Given the description of an element on the screen output the (x, y) to click on. 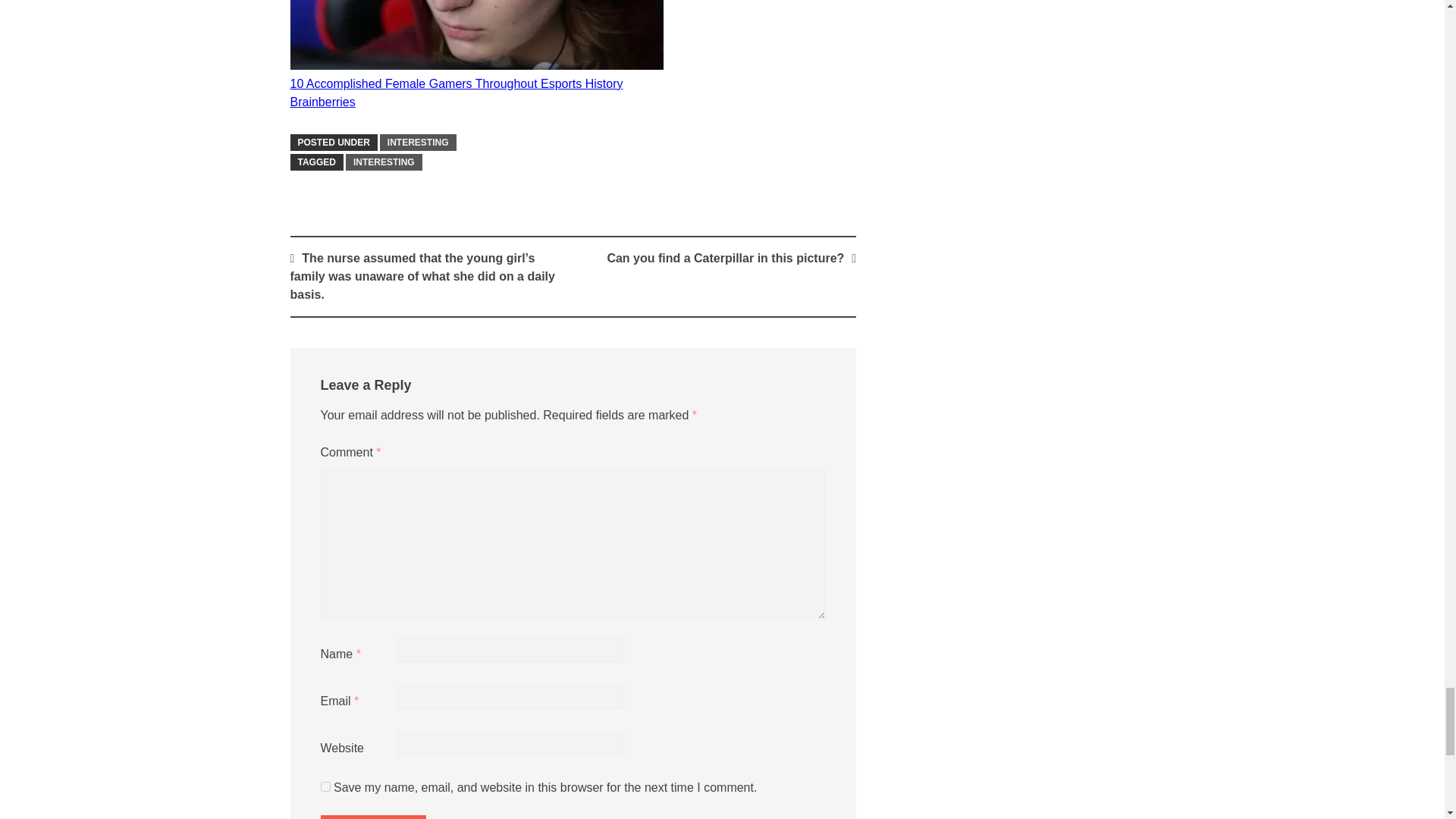
Post Comment (372, 816)
Can you find a Caterpillar in this picture? (725, 257)
yes (325, 786)
Post Comment (372, 816)
INTERESTING (418, 142)
INTERESTING (384, 161)
